Given the description of an element on the screen output the (x, y) to click on. 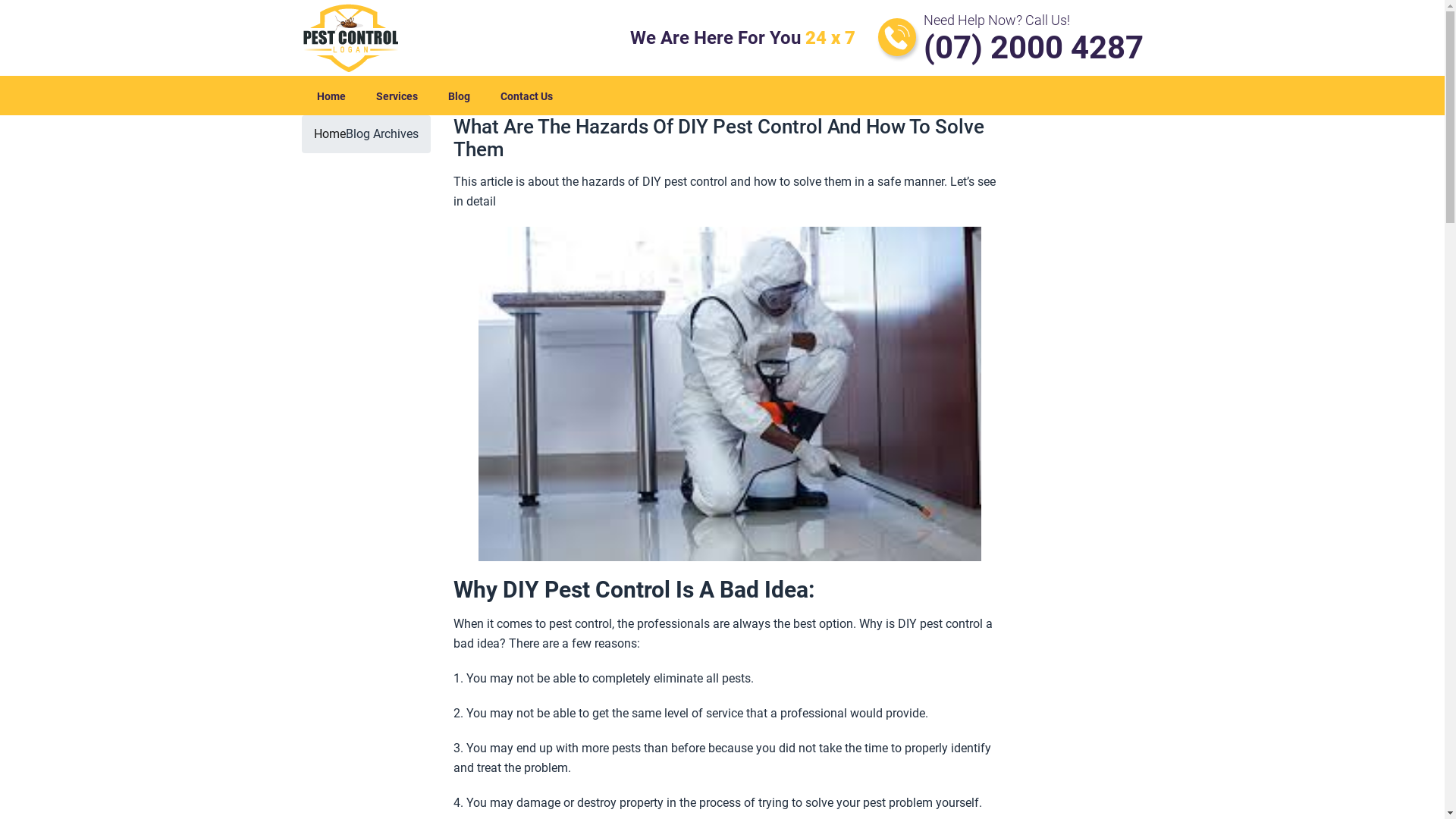
Need Help Now? Call Us!
(07) 2000 4287 Element type: text (1010, 37)
Home Element type: text (329, 133)
Home Element type: text (330, 96)
Services Element type: text (396, 96)
Contact Us Element type: text (526, 96)
Blog Element type: text (458, 96)
